Given the description of an element on the screen output the (x, y) to click on. 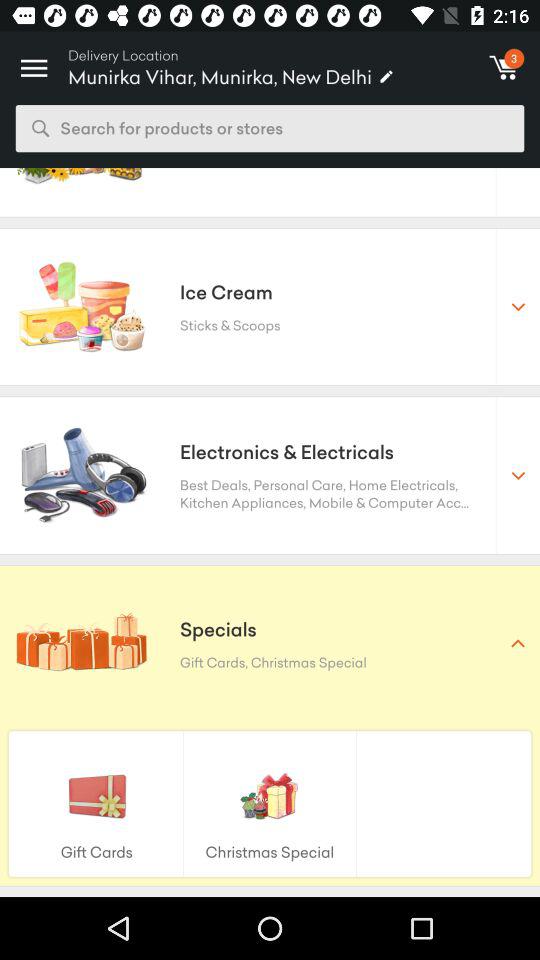
click the icon above search for products (33, 62)
